Given the description of an element on the screen output the (x, y) to click on. 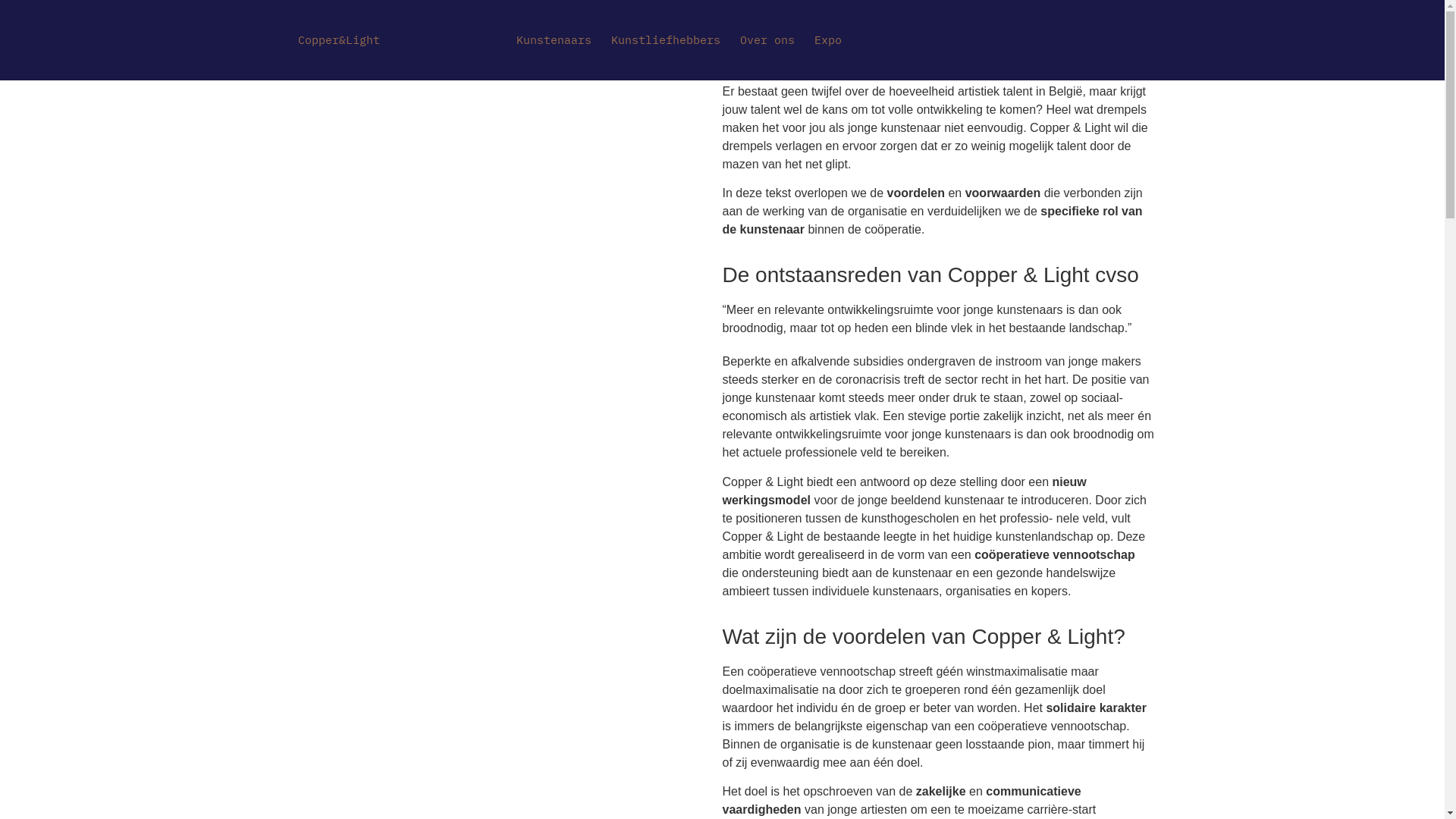
Expo Element type: text (826, 39)
Kunstliefhebbers Element type: text (664, 39)
Copper&Light Element type: text (338, 39)
Over ons Element type: text (766, 39)
Kunstenaars Element type: text (553, 39)
